Given the description of an element on the screen output the (x, y) to click on. 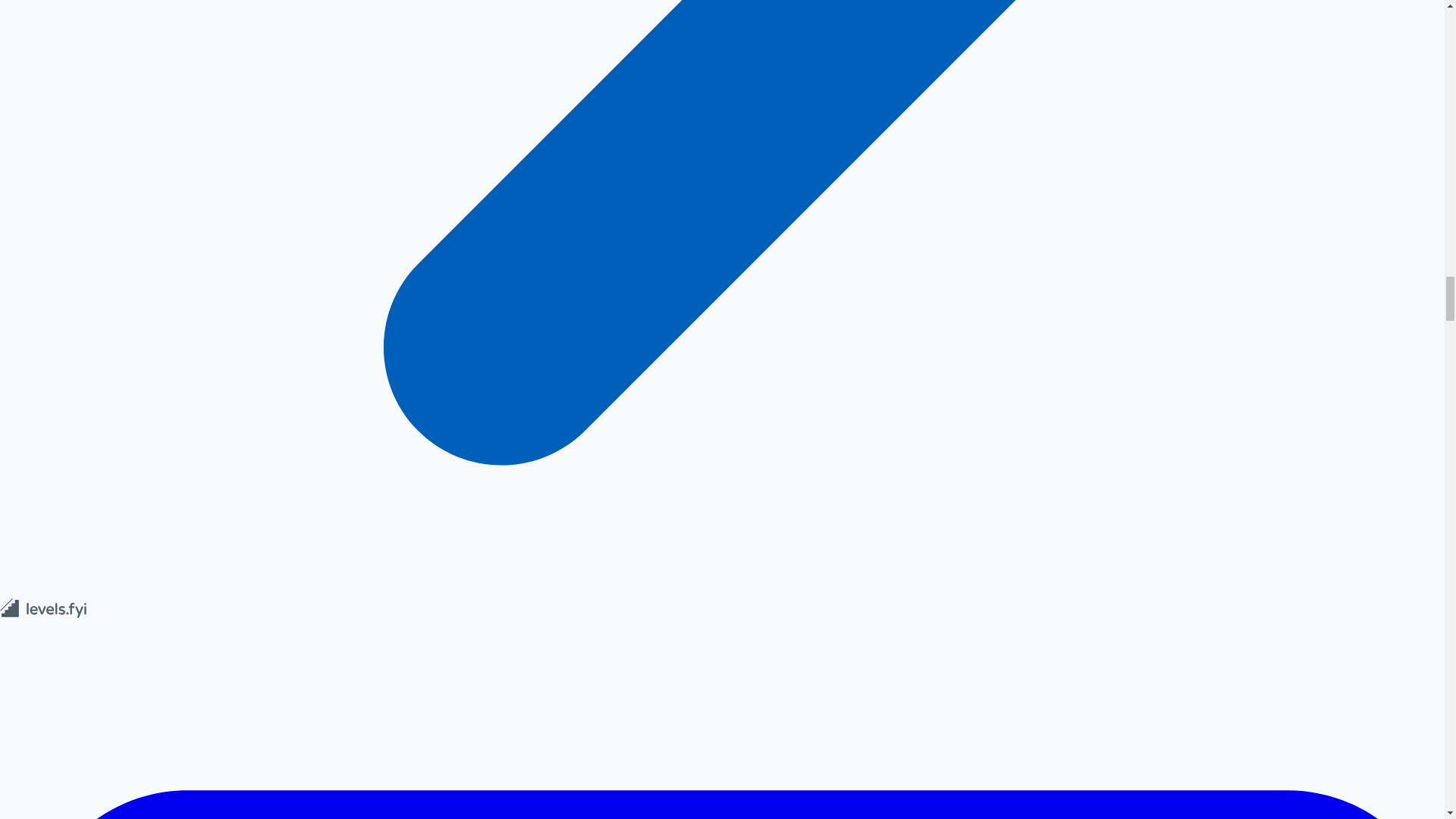
Levels FYI Logo (43, 608)
Levels FYI Logo (43, 614)
